Given the description of an element on the screen output the (x, y) to click on. 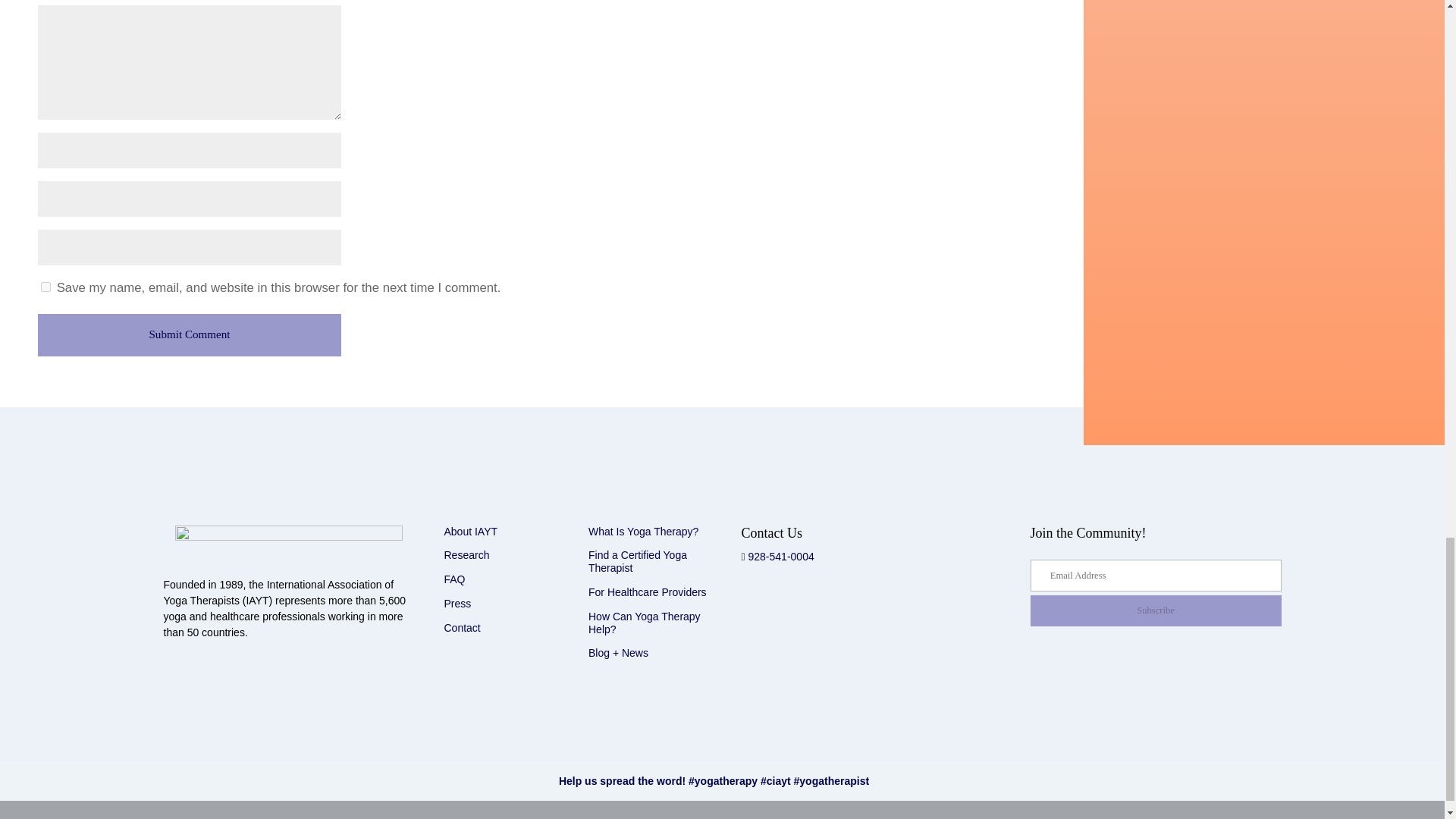
yes (45, 286)
Subscribe (1155, 610)
Submit Comment (188, 334)
